Given the description of an element on the screen output the (x, y) to click on. 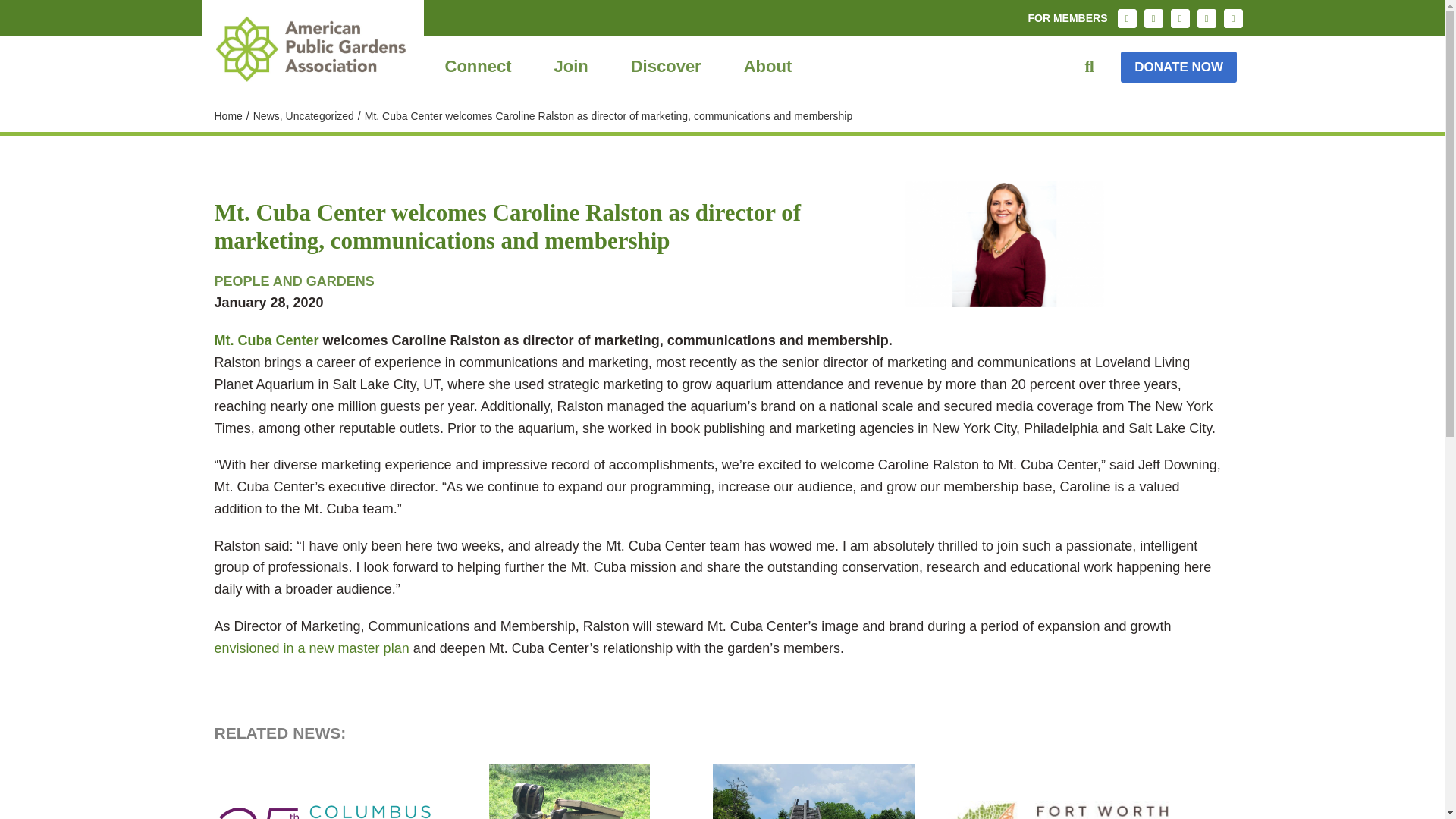
Instagram (1127, 18)
YOUTUBE (1233, 18)
Twitter (1179, 18)
Discover (665, 66)
Facebook (1151, 18)
Join (570, 66)
FOR MEMBERS (1067, 18)
About (768, 66)
LINKEDIN (1205, 18)
Connect (477, 66)
